Given the description of an element on the screen output the (x, y) to click on. 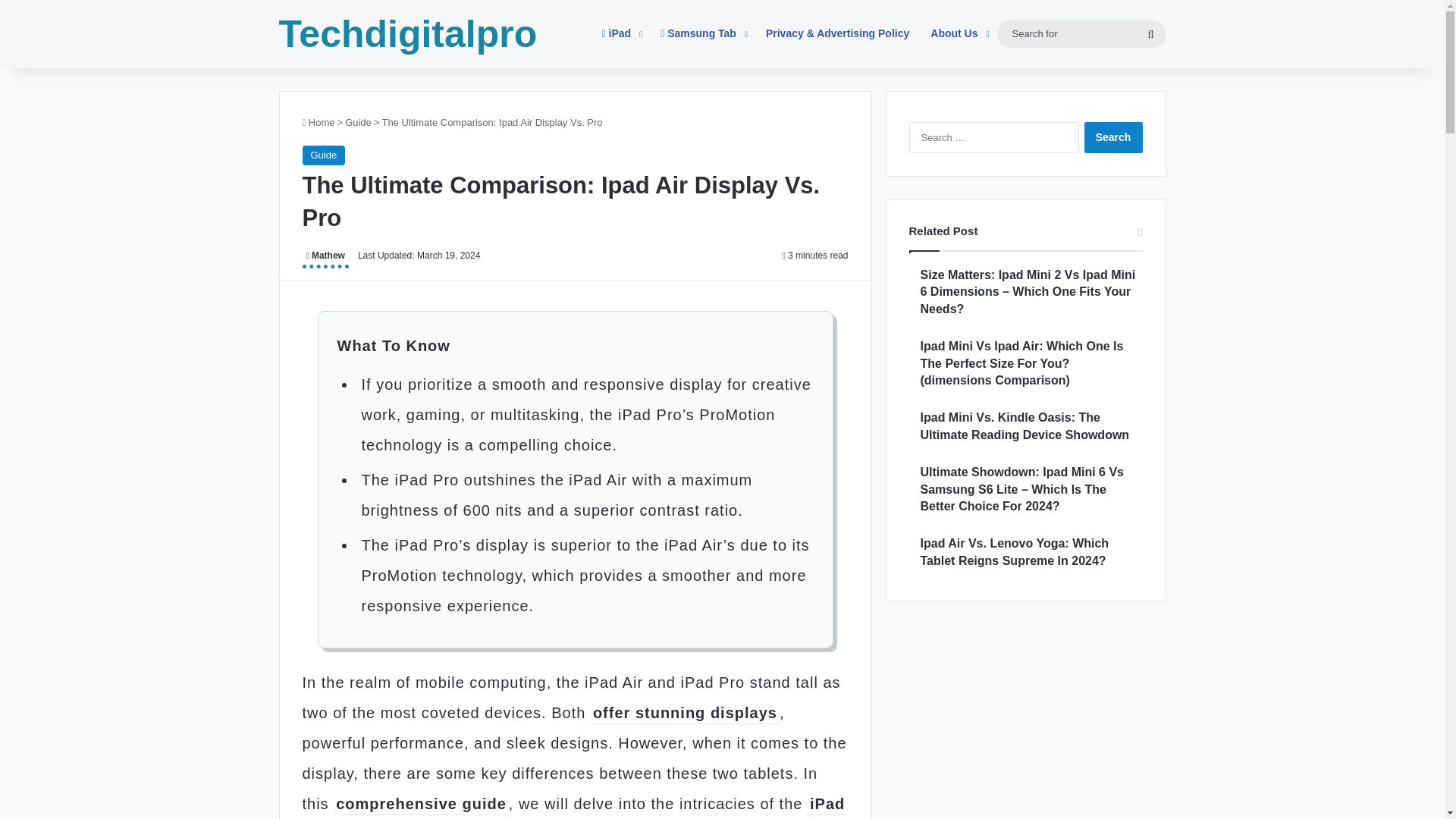
About Us (957, 33)
Techdigitalpro (408, 34)
Search for (1150, 32)
Guide (323, 155)
Home (317, 122)
Guide (358, 122)
Search for (1080, 32)
Mathew (324, 257)
Mathew (324, 257)
Techdigitalpro (408, 34)
